Given the description of an element on the screen output the (x, y) to click on. 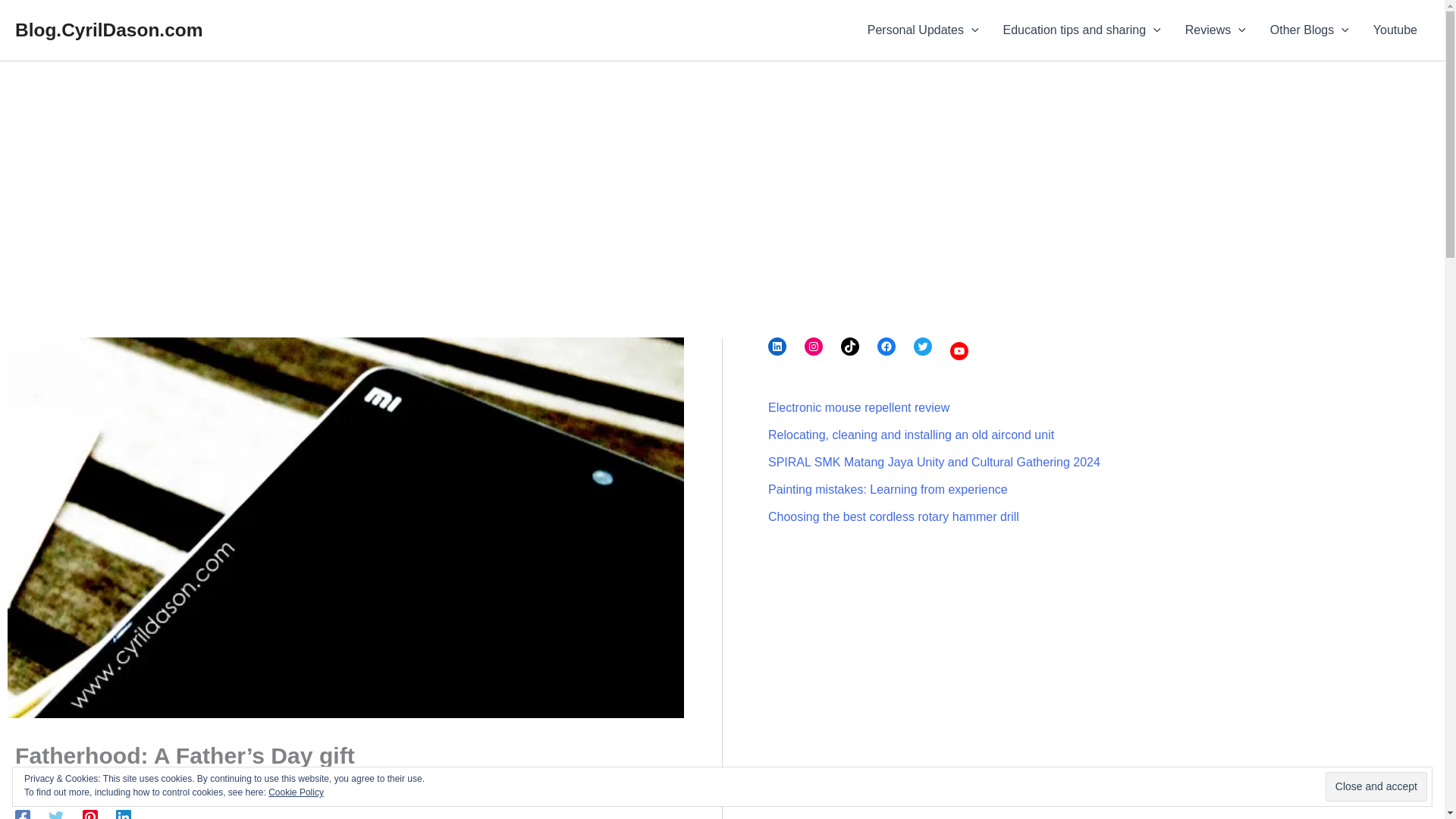
Close and accept (1375, 786)
View all posts by cyrildason (53, 787)
Other Blogs (1309, 30)
Personal Updates (923, 30)
Education tips and sharing (1082, 30)
Blog.CyrilDason.com (108, 29)
Reviews (1215, 30)
